Given the description of an element on the screen output the (x, y) to click on. 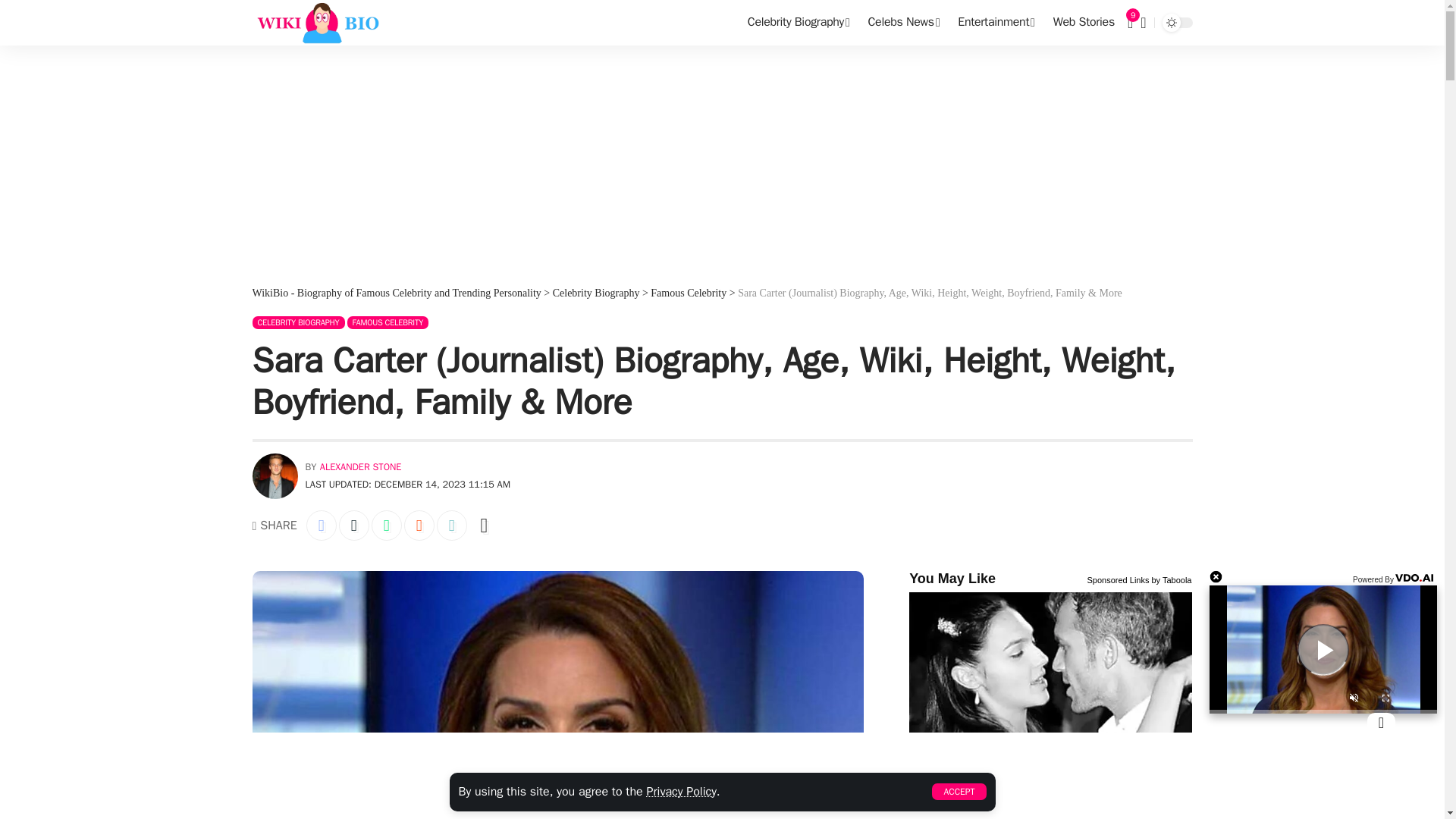
Celebs News (904, 22)
Privacy Policy (681, 791)
Entertainment (996, 22)
Web Stories (1083, 22)
Celebrity Biography (798, 22)
ACCEPT (958, 791)
